Given the description of an element on the screen output the (x, y) to click on. 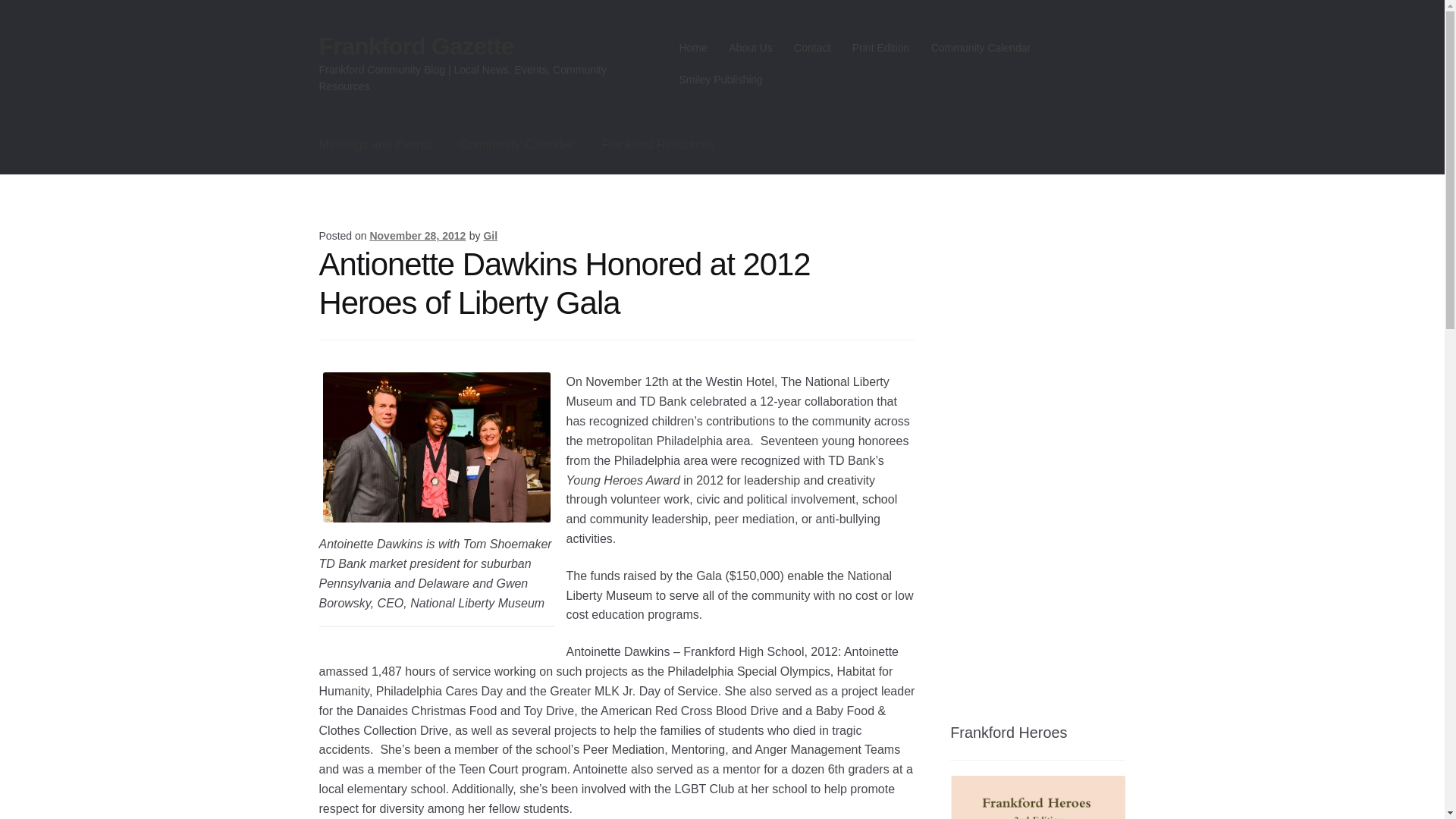
Frankford Gazette (415, 45)
Print Edition (880, 47)
Contact (812, 47)
November 28, 2012 (417, 235)
Home (692, 47)
About Us (750, 47)
Smiley Publishing (720, 79)
Community Calendar (980, 47)
